Given the description of an element on the screen output the (x, y) to click on. 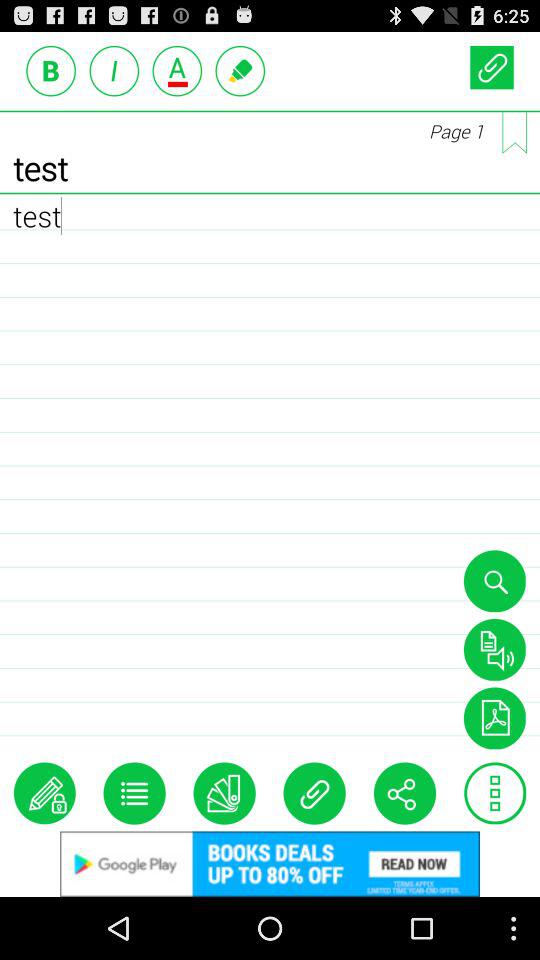
share the content through other social media platforms (404, 793)
